Given the description of an element on the screen output the (x, y) to click on. 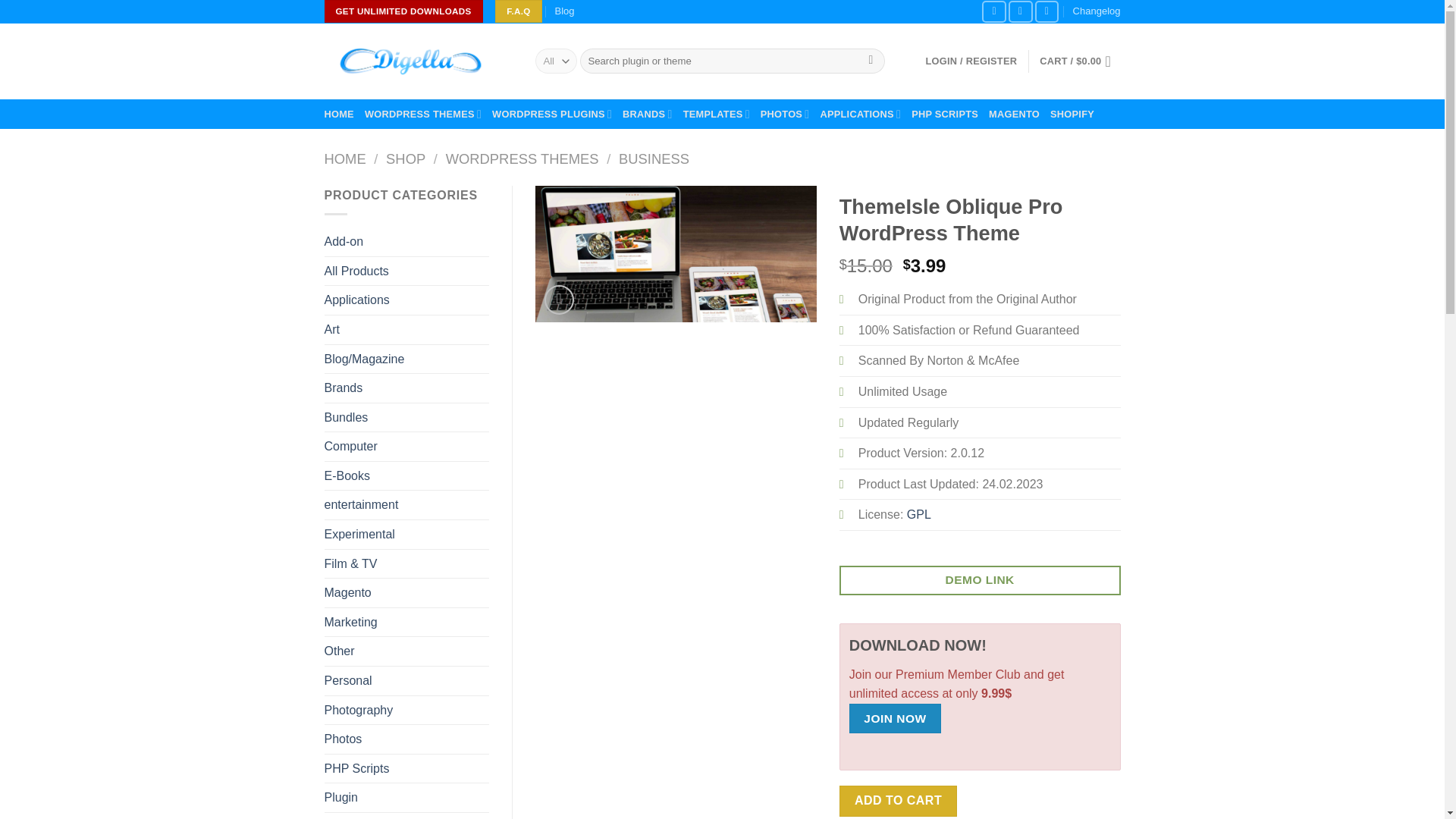
Send us an email (1047, 11)
HOME (338, 113)
GET UNLIMITED DOWNLOADS (403, 11)
Zoom (558, 299)
Follow on Facebook (993, 11)
F.A.Q (518, 11)
Changelog (1097, 11)
Cart (1079, 61)
WORDPRESS PLUGINS (551, 113)
Digella - Unlimited Digital Products (418, 60)
WORDPRESS THEMES (423, 113)
ThemeIsle Oblique Pro WordPress Theme (675, 253)
Follow on Instagram (1020, 11)
